Given the description of an element on the screen output the (x, y) to click on. 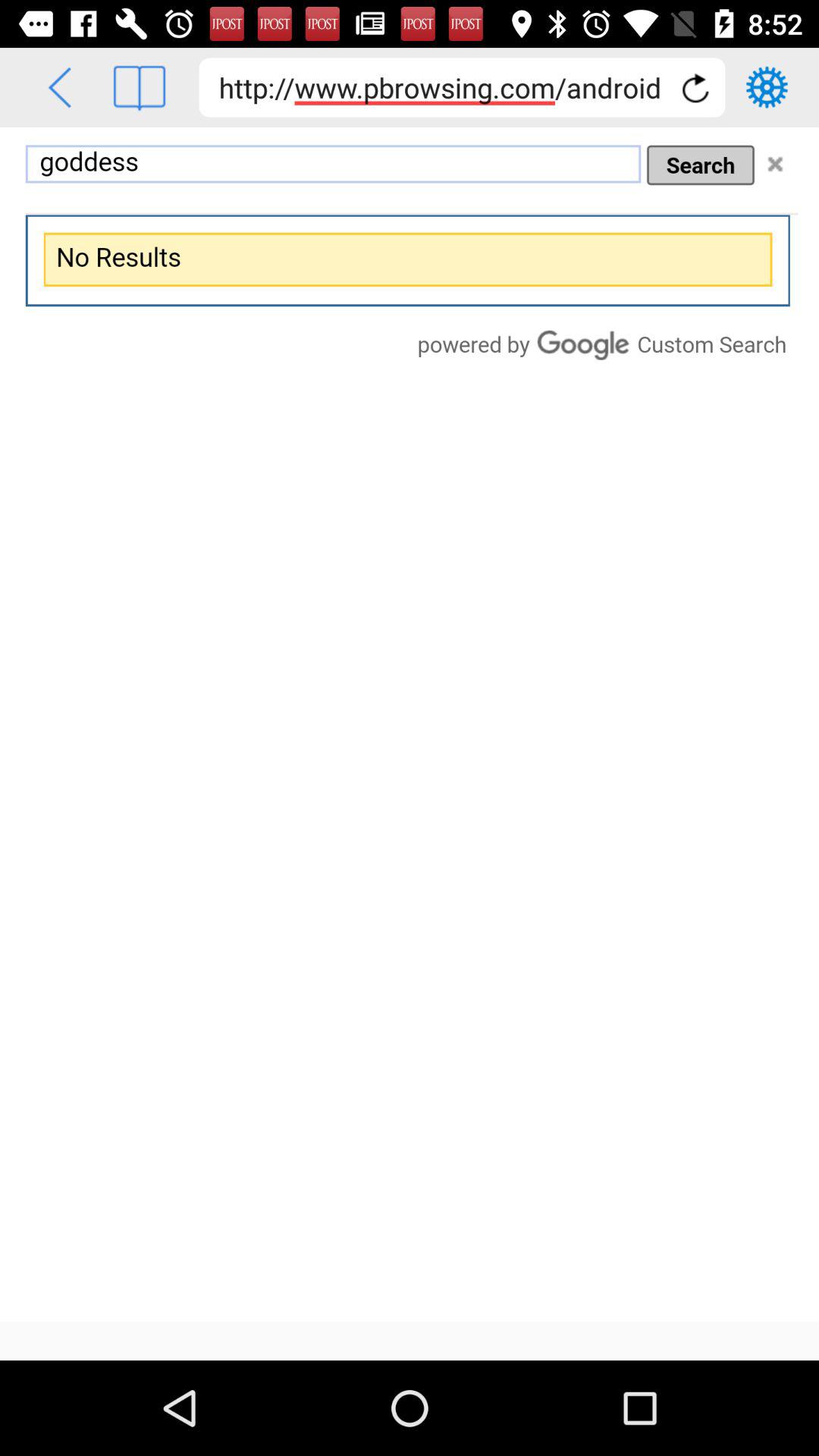
settings (766, 87)
